Given the description of an element on the screen output the (x, y) to click on. 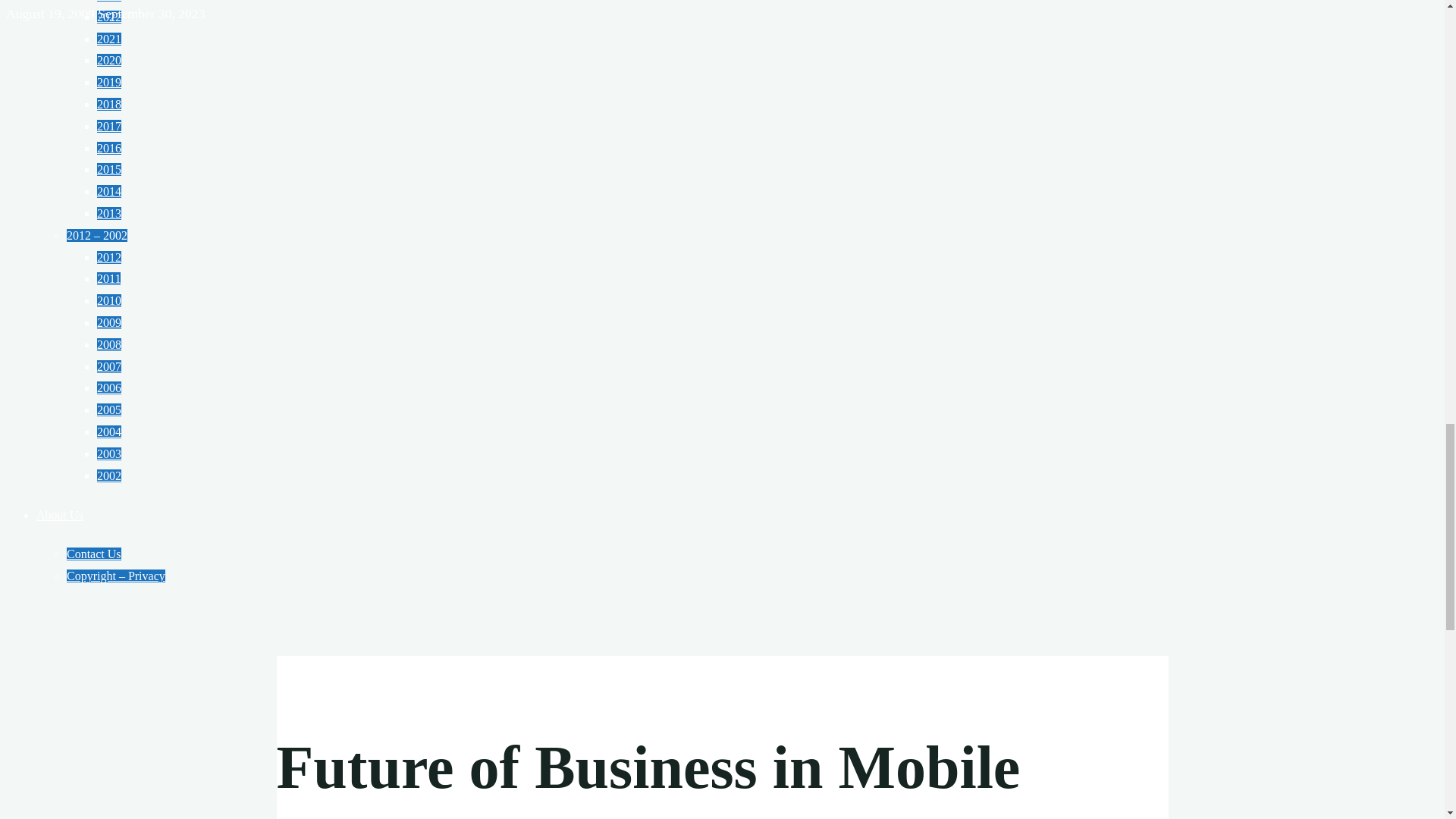
2019 (108, 82)
2023 (108, 0)
2020 (108, 60)
2021 (108, 38)
2022 (108, 16)
